Given the description of an element on the screen output the (x, y) to click on. 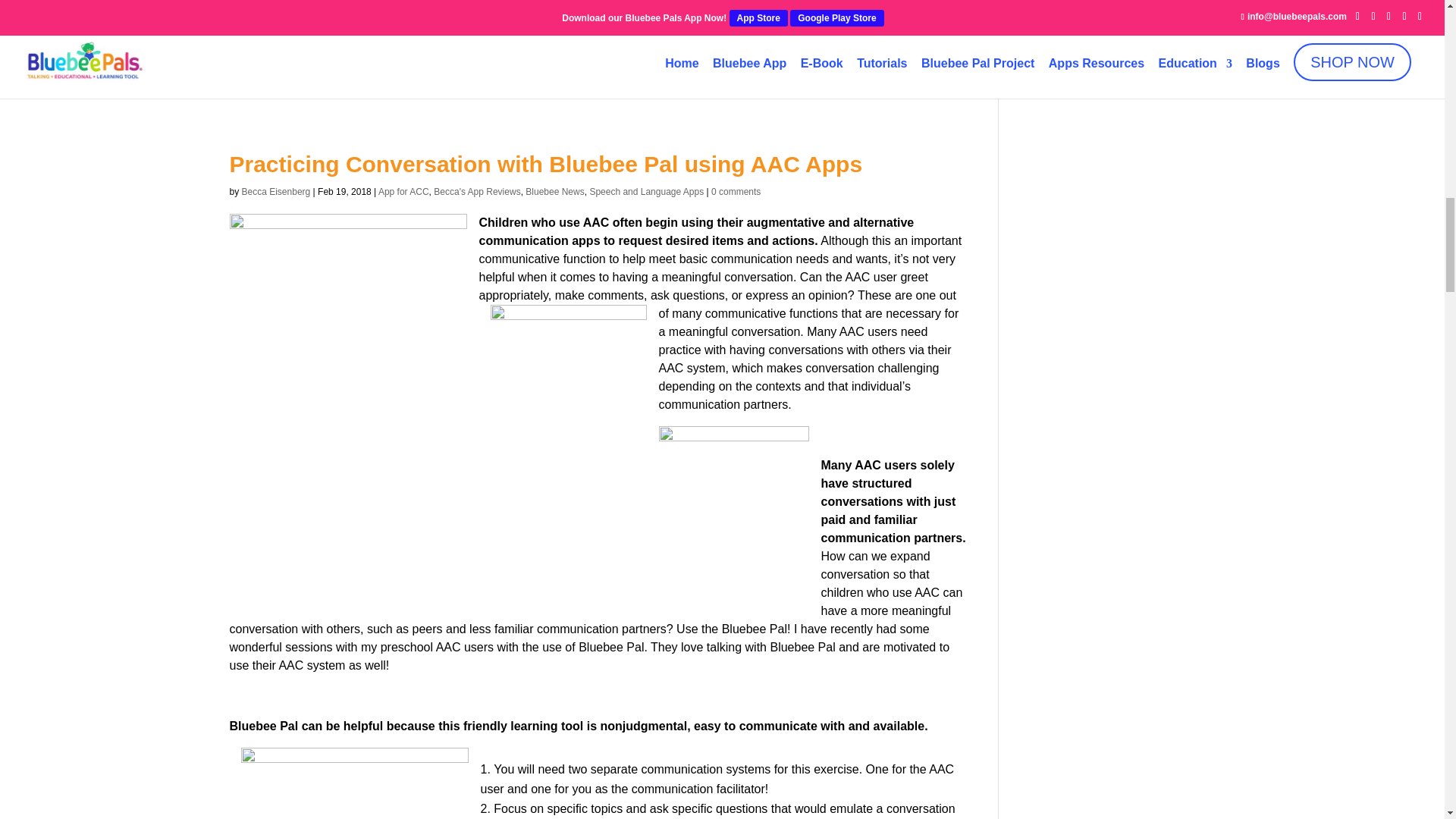
Bluebee News (554, 191)
Practicing Conversation with Bluebee Pal using AAC Apps (544, 163)
Becca's App Reviews (476, 191)
App for ACC (403, 191)
Posts by Becca Eisenberg (276, 191)
Becca Eisenberg (276, 191)
